Given the description of an element on the screen output the (x, y) to click on. 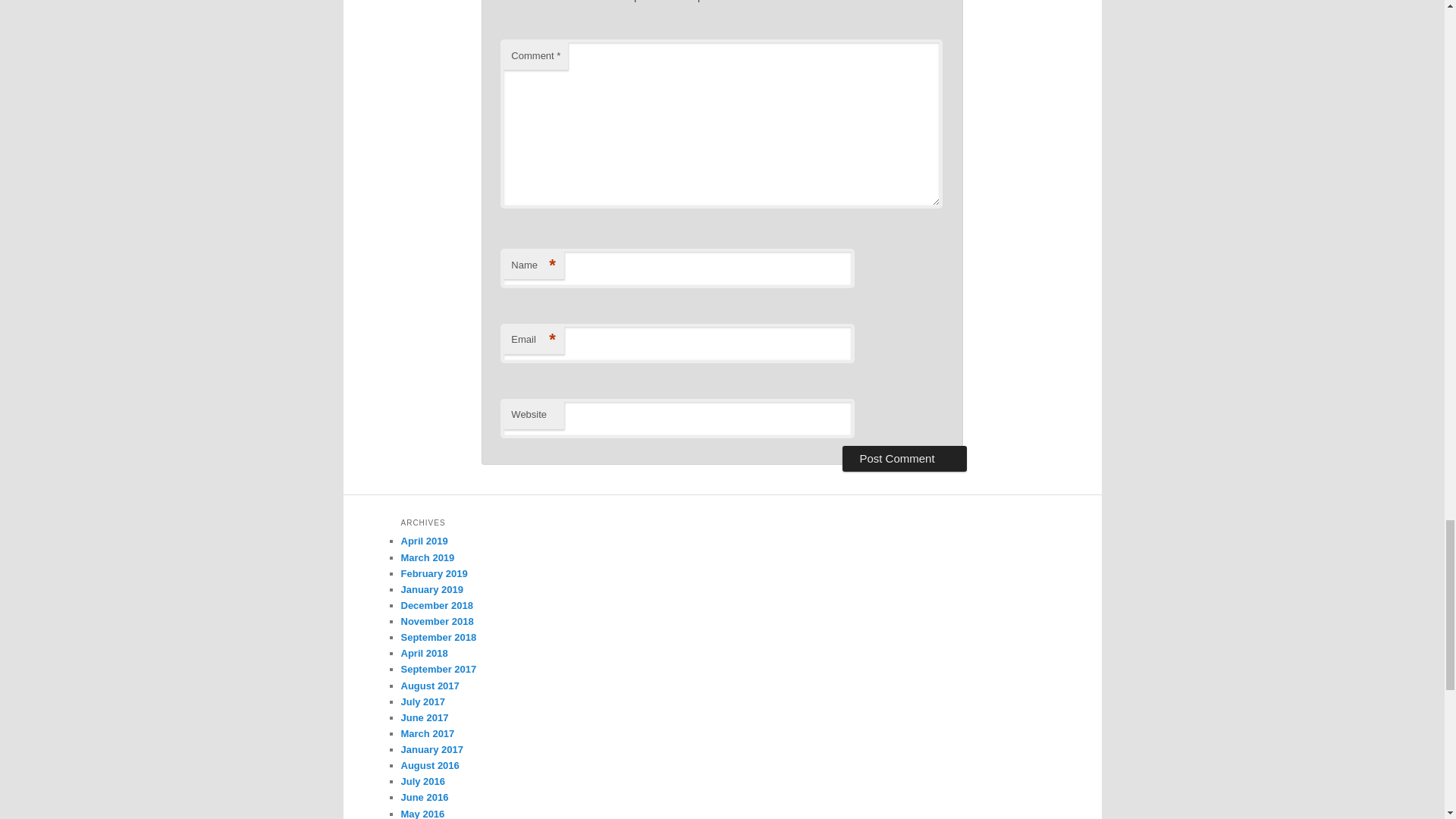
November 2018 (436, 621)
March 2019 (427, 557)
Post Comment (904, 458)
February 2019 (433, 573)
April 2018 (423, 653)
January 2019 (431, 589)
Post Comment (904, 458)
April 2019 (423, 541)
September 2017 (438, 668)
December 2018 (435, 604)
